Given the description of an element on the screen output the (x, y) to click on. 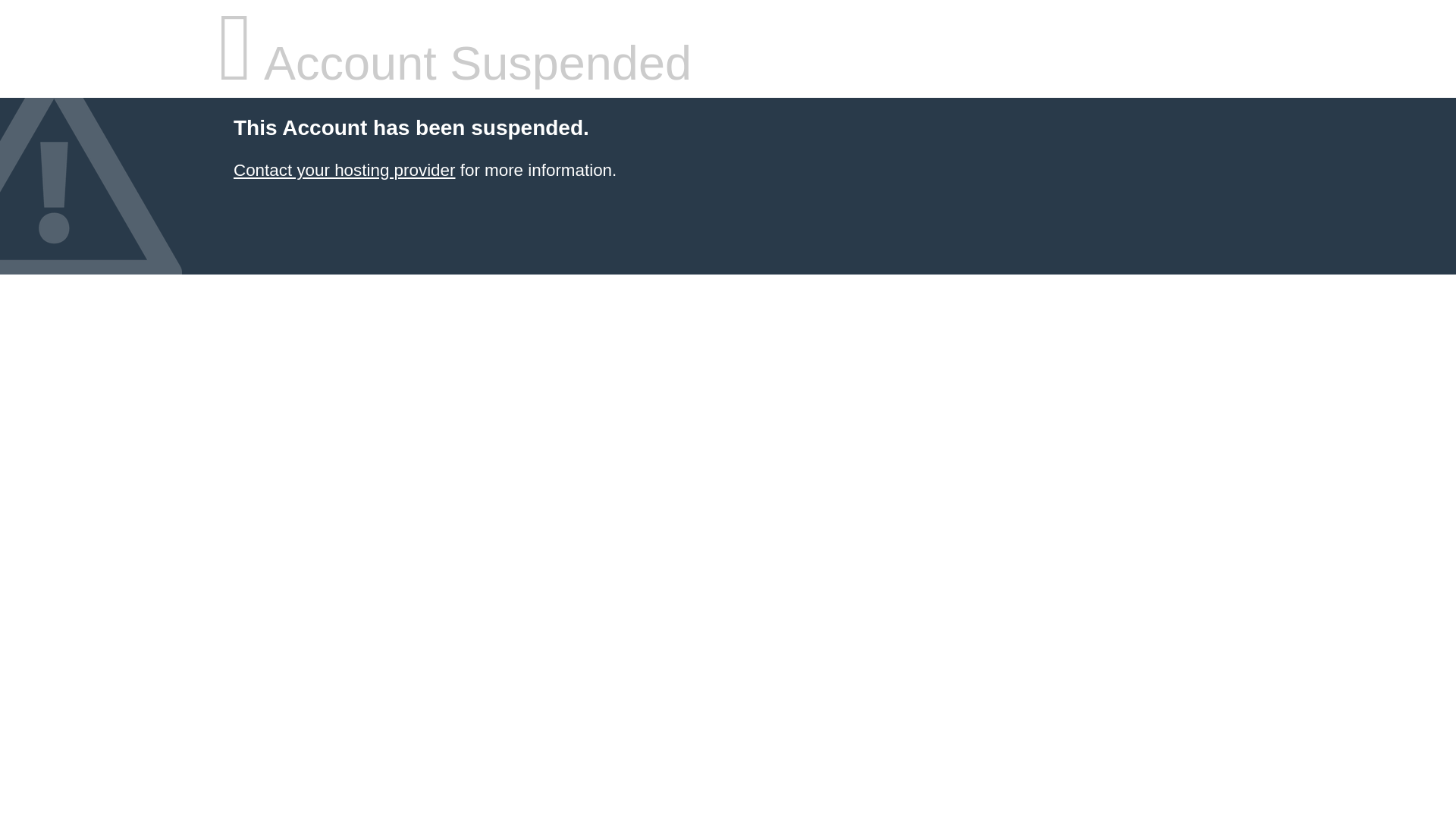
Contact your hosting provider (343, 169)
